Given the description of an element on the screen output the (x, y) to click on. 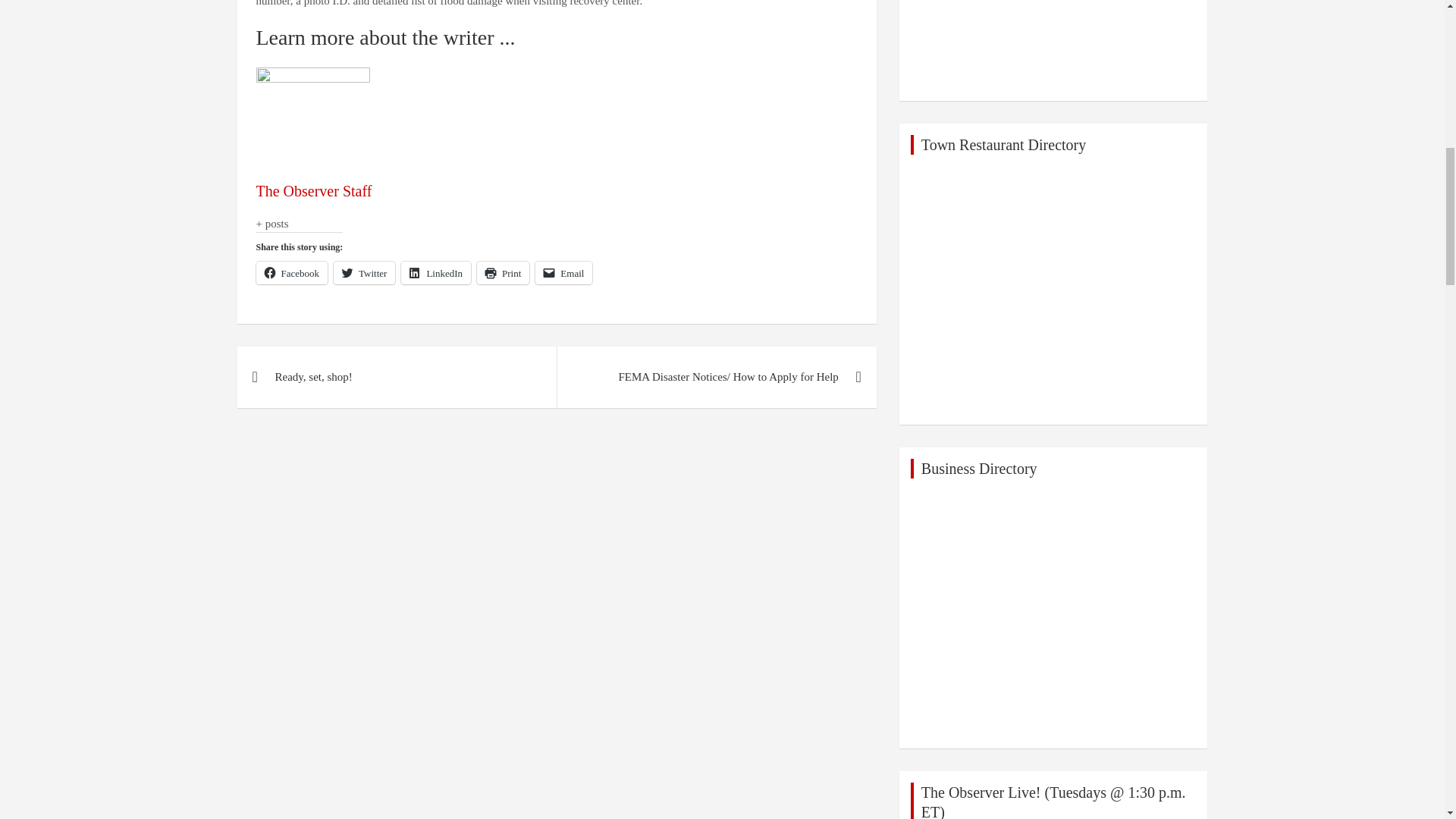
Click to share on LinkedIn (435, 272)
Click to print (503, 272)
Click to share on Facebook (292, 272)
Click to email a link to a friend (563, 272)
Click to share on Twitter (363, 272)
